Given the description of an element on the screen output the (x, y) to click on. 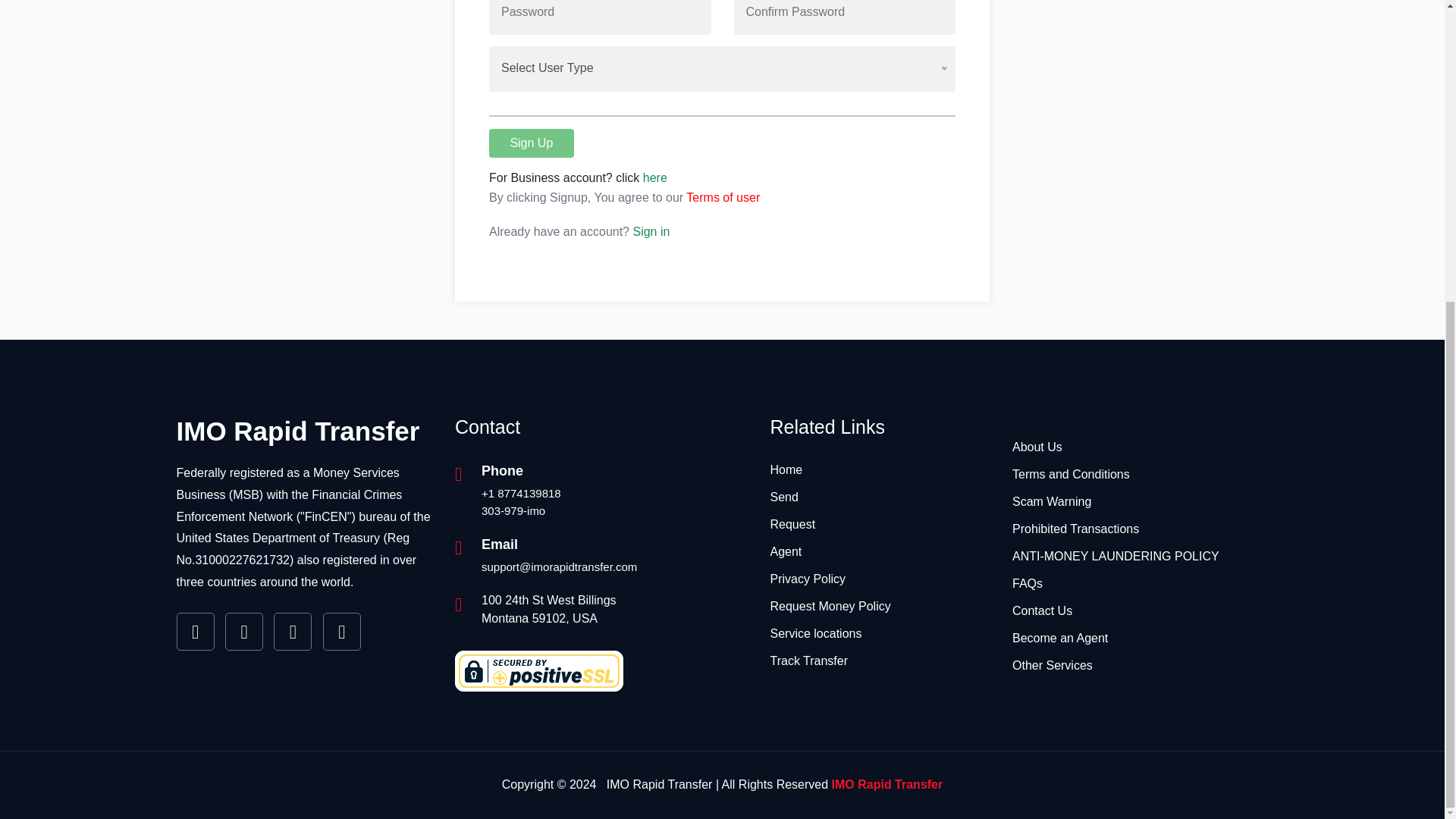
Sign in (650, 231)
here (654, 177)
For Business account? click (566, 177)
Terms of user (722, 196)
Sign Up (531, 143)
IMO Rapid Transfer (297, 430)
